Given the description of an element on the screen output the (x, y) to click on. 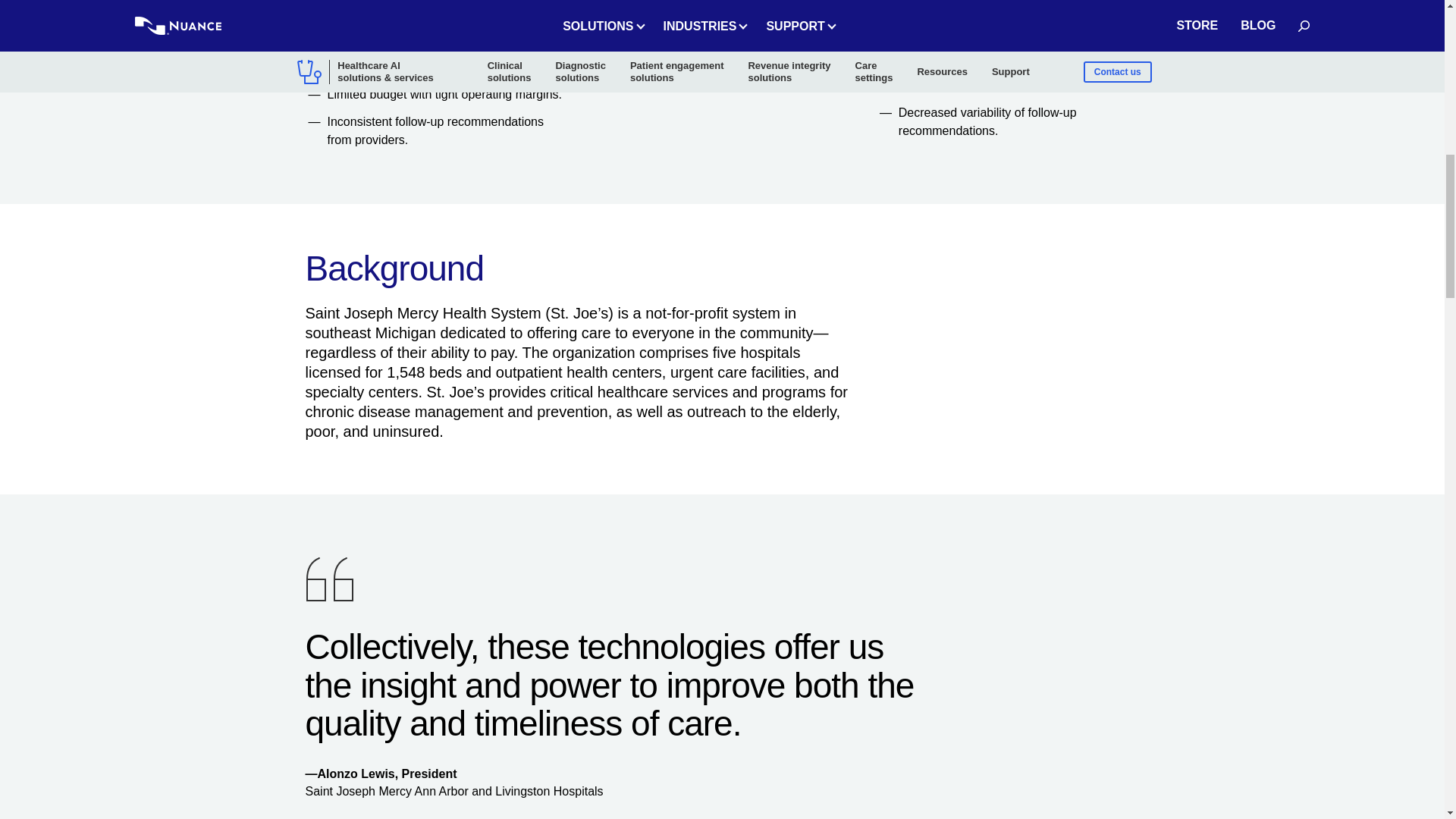
quote (328, 579)
